Given the description of an element on the screen output the (x, y) to click on. 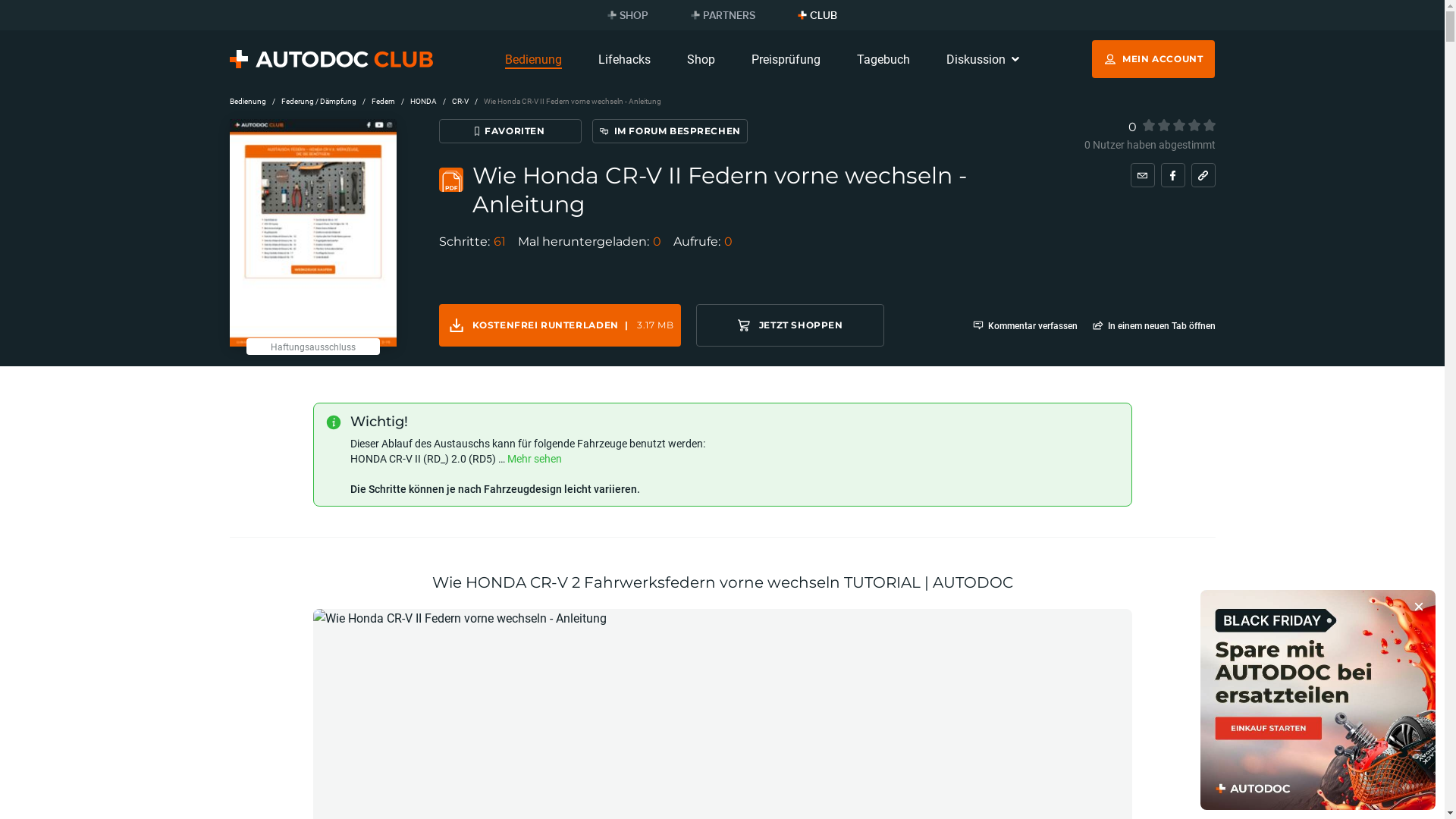
MEIN ACCOUNT Element type: text (1153, 59)
Federn Element type: text (383, 100)
Schritte:
61 Element type: text (471, 241)
Shop Element type: text (701, 58)
KOSTENFREI RUNTERLADEN
3.17 MB Element type: text (559, 325)
Bedienung Element type: text (247, 100)
FAVORITEN Element type: text (509, 131)
Tagebuch Element type: text (883, 58)
IM FORUM BESPRECHEN Element type: text (668, 131)
CR-V Element type: text (459, 100)
HONDA Element type: text (422, 100)
Bedienung Element type: text (533, 58)
JETZT SHOPPEN Element type: text (790, 325)
